Given the description of an element on the screen output the (x, y) to click on. 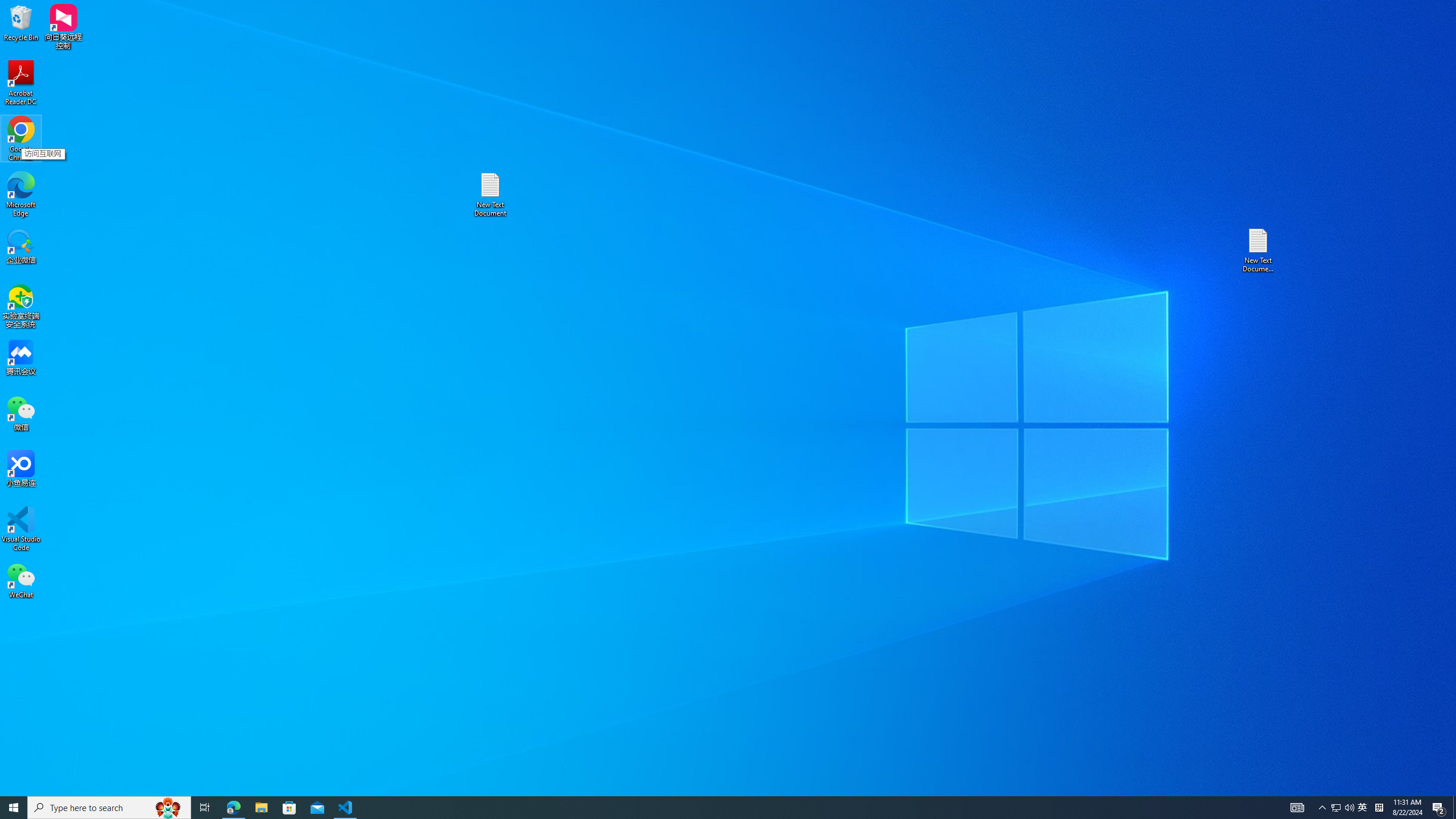
User Promoted Notification Area (1342, 807)
Q2790: 100% (1349, 807)
Type here to search (108, 807)
Recycle Bin (21, 22)
Microsoft Store (1362, 807)
Start (289, 807)
Running applications (13, 807)
File Explorer (707, 807)
Visual Studio Code - 1 running window (261, 807)
New Text Document (2) (345, 807)
Task View (1258, 250)
